Given the description of an element on the screen output the (x, y) to click on. 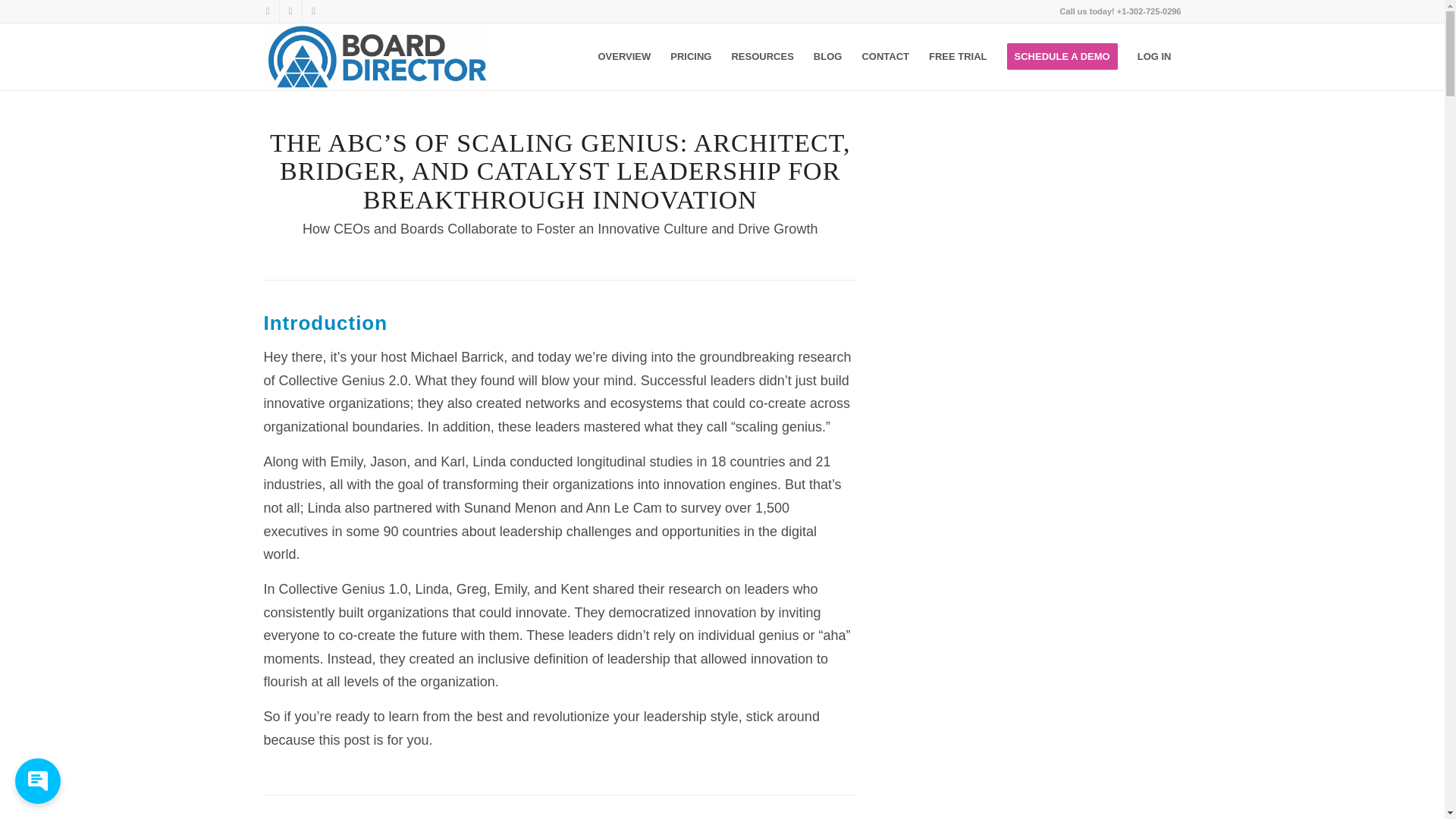
Youtube (312, 11)
FREE TRIAL (957, 56)
OVERVIEW (624, 56)
Conversations (34, 788)
Facebook (267, 11)
CONTACT (884, 56)
SCHEDULE A DEMO (1061, 56)
RESOURCES (761, 56)
LinkedIn (290, 11)
PRICING (690, 56)
